Given the description of an element on the screen output the (x, y) to click on. 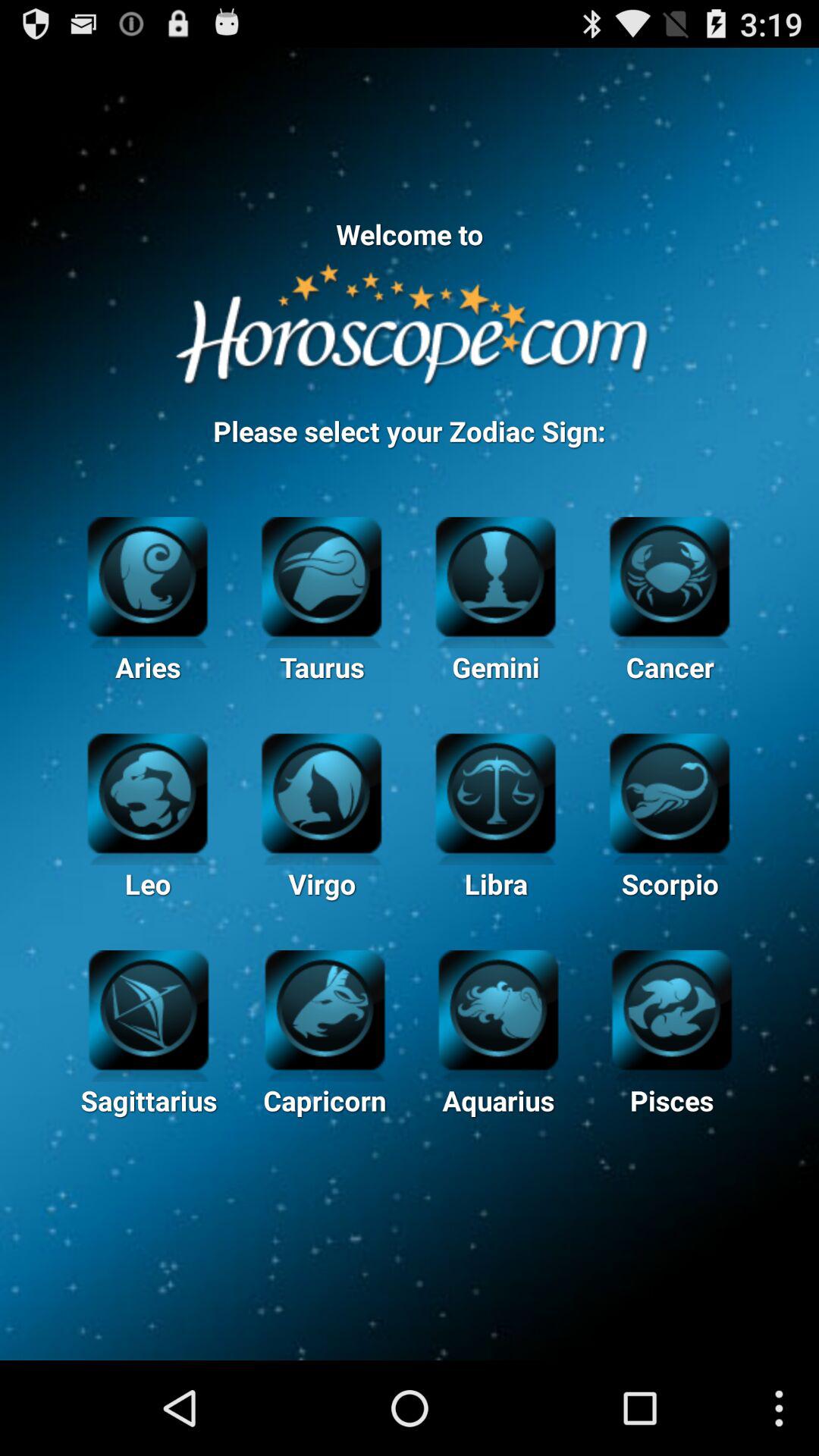
click the second image in the first row (321, 574)
icon of capricorn (324, 1008)
tap on the leos icon (146, 798)
select the image of scorpio (669, 798)
